Given the description of an element on the screen output the (x, y) to click on. 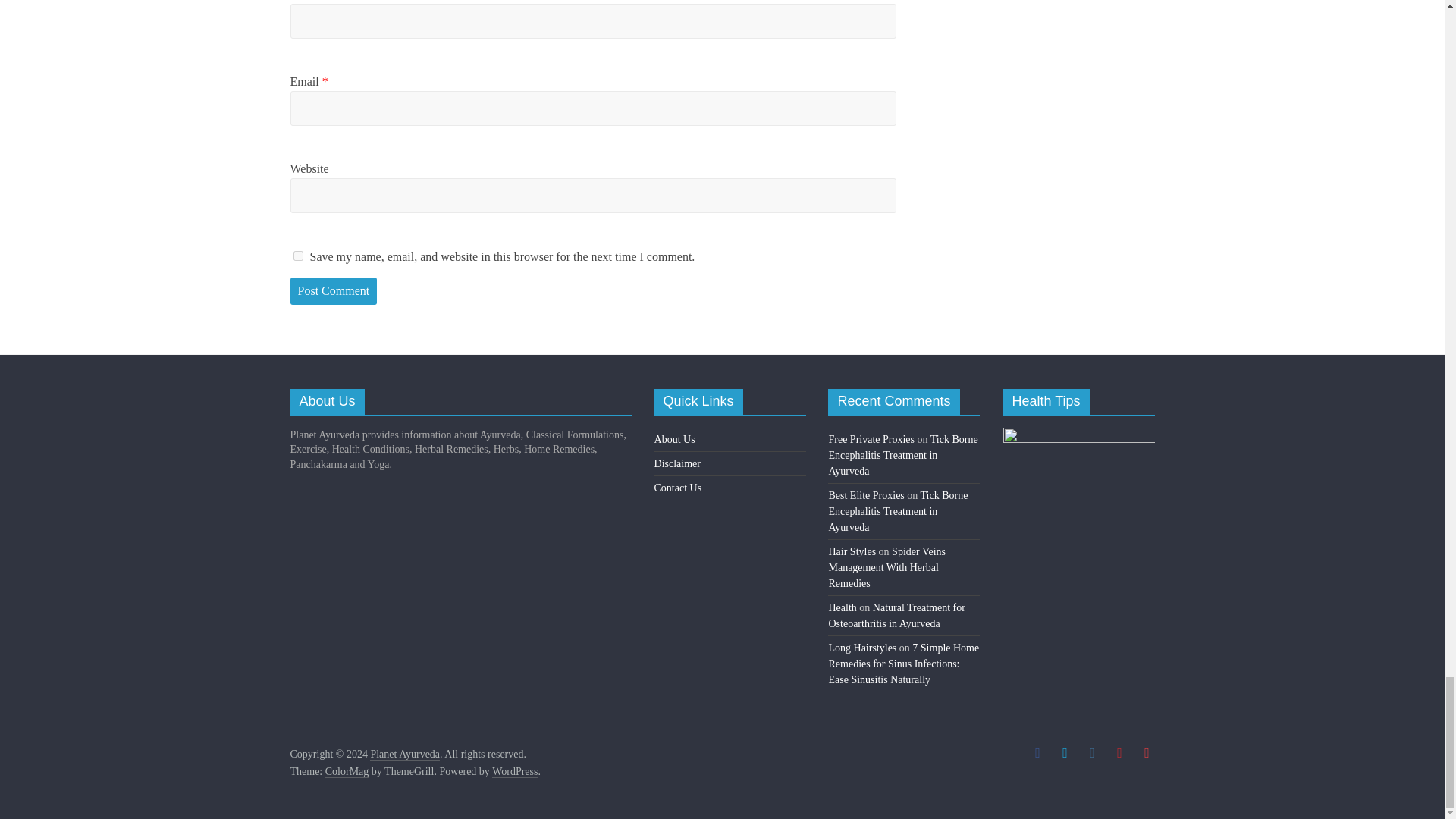
yes (297, 255)
Post Comment (333, 290)
